Given the description of an element on the screen output the (x, y) to click on. 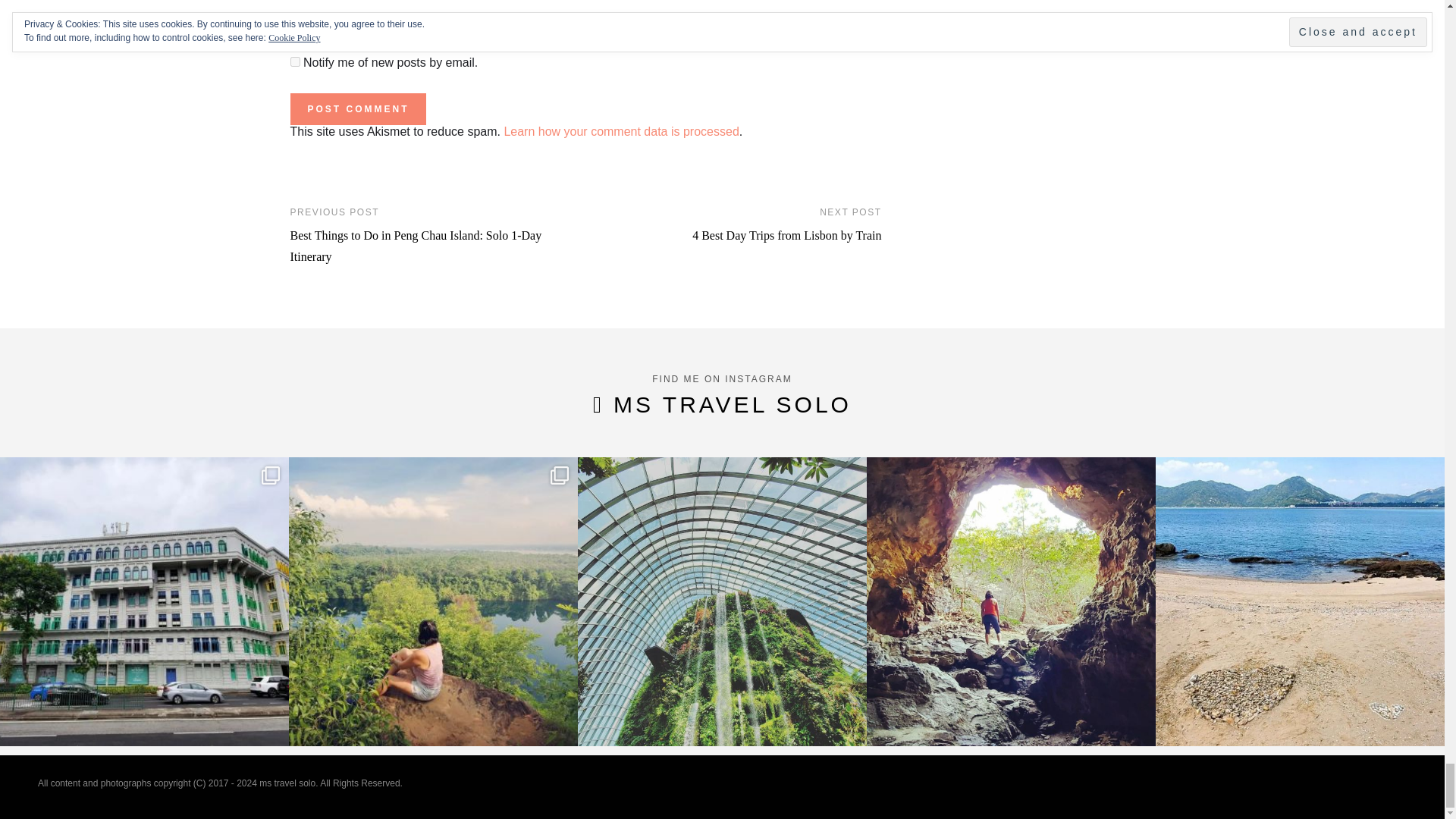
yes (294, 17)
Post Comment (357, 109)
subscribe (294, 35)
subscribe (294, 61)
